Given the description of an element on the screen output the (x, y) to click on. 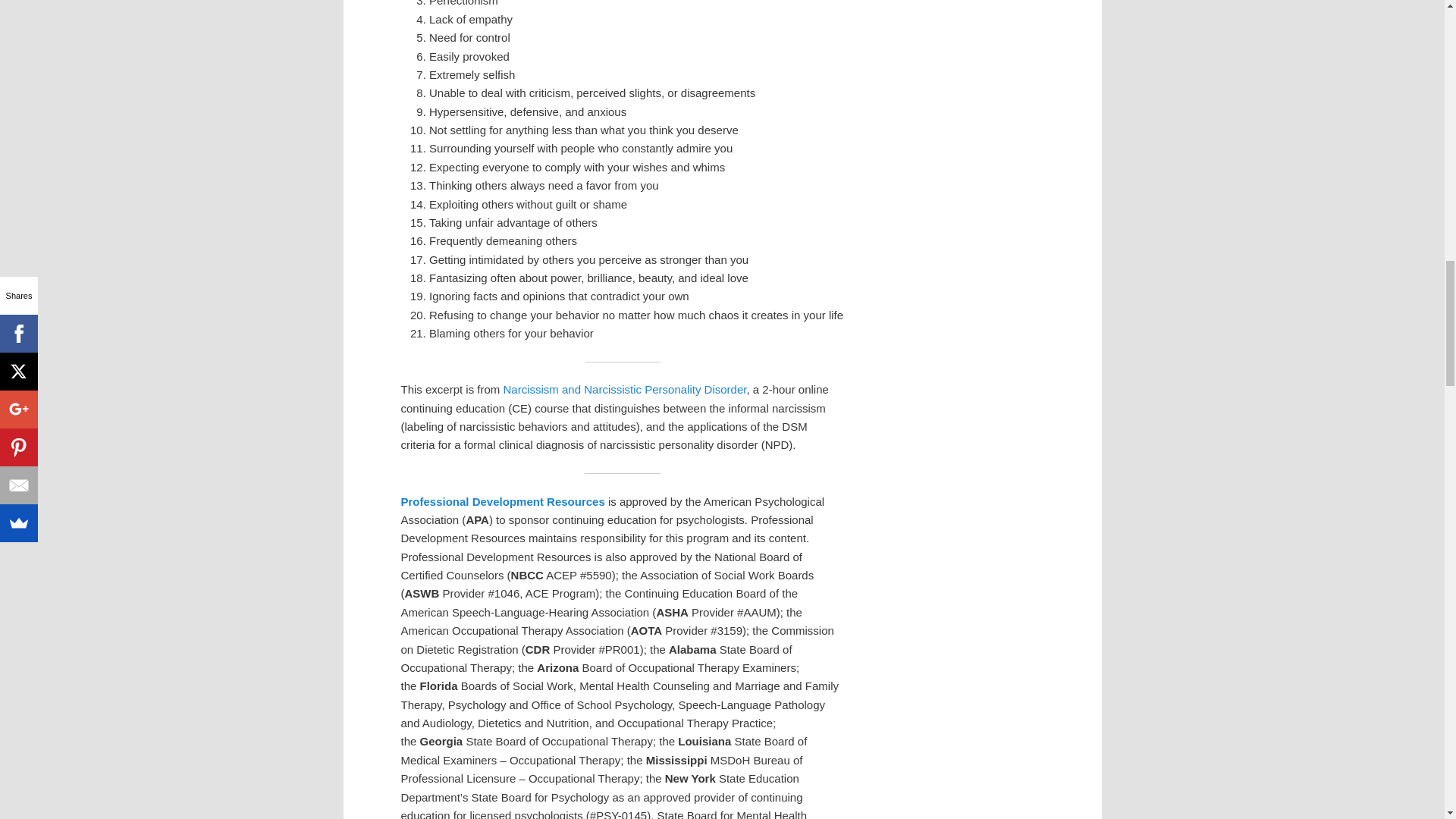
Professional Development Resources (502, 501)
Narcissism and Narcissistic Personality Disorder (624, 389)
